Given the description of an element on the screen output the (x, y) to click on. 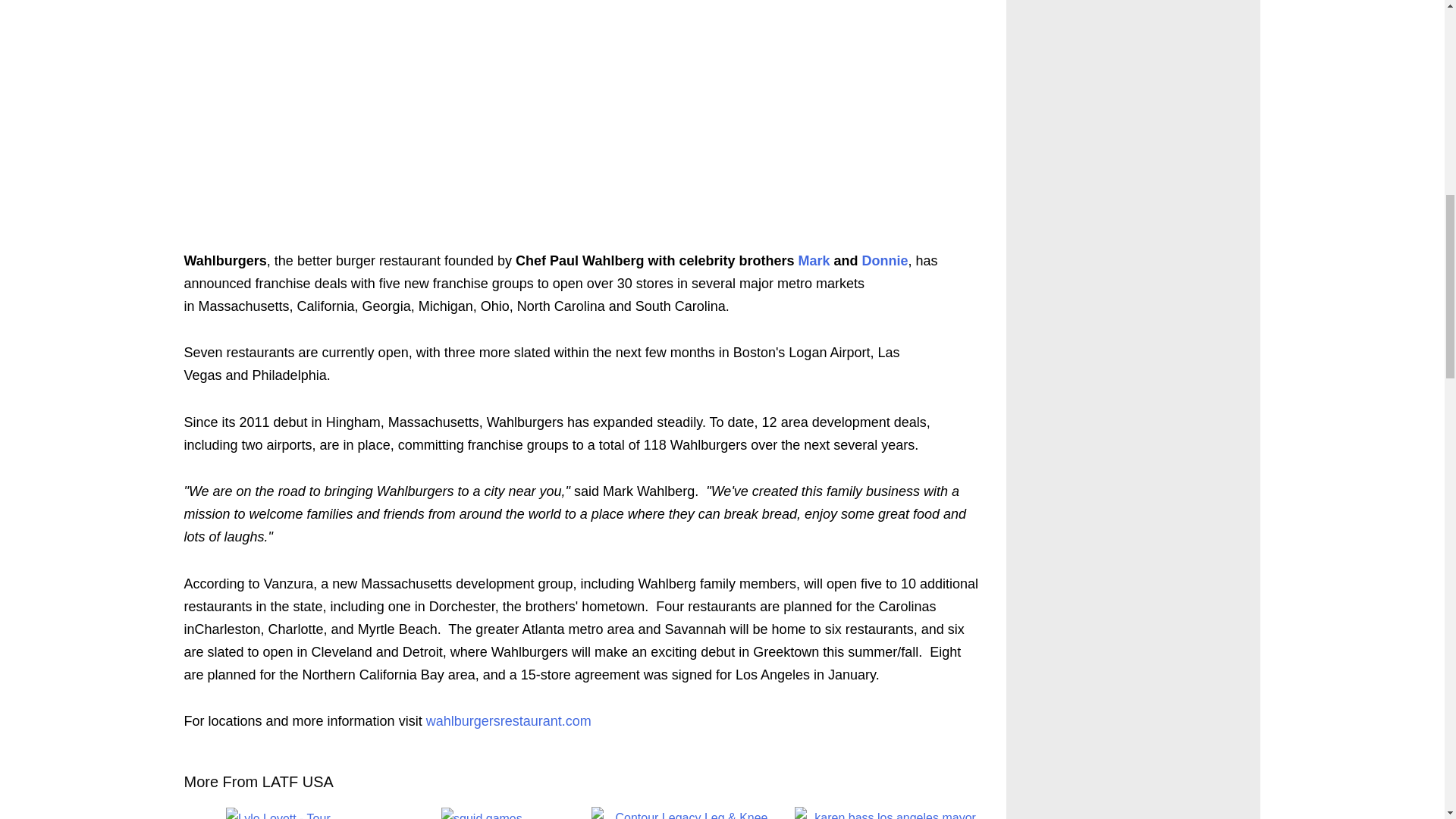
squid games (481, 813)
karen bass los angeles mayor olympics (889, 812)
